Given the description of an element on the screen output the (x, y) to click on. 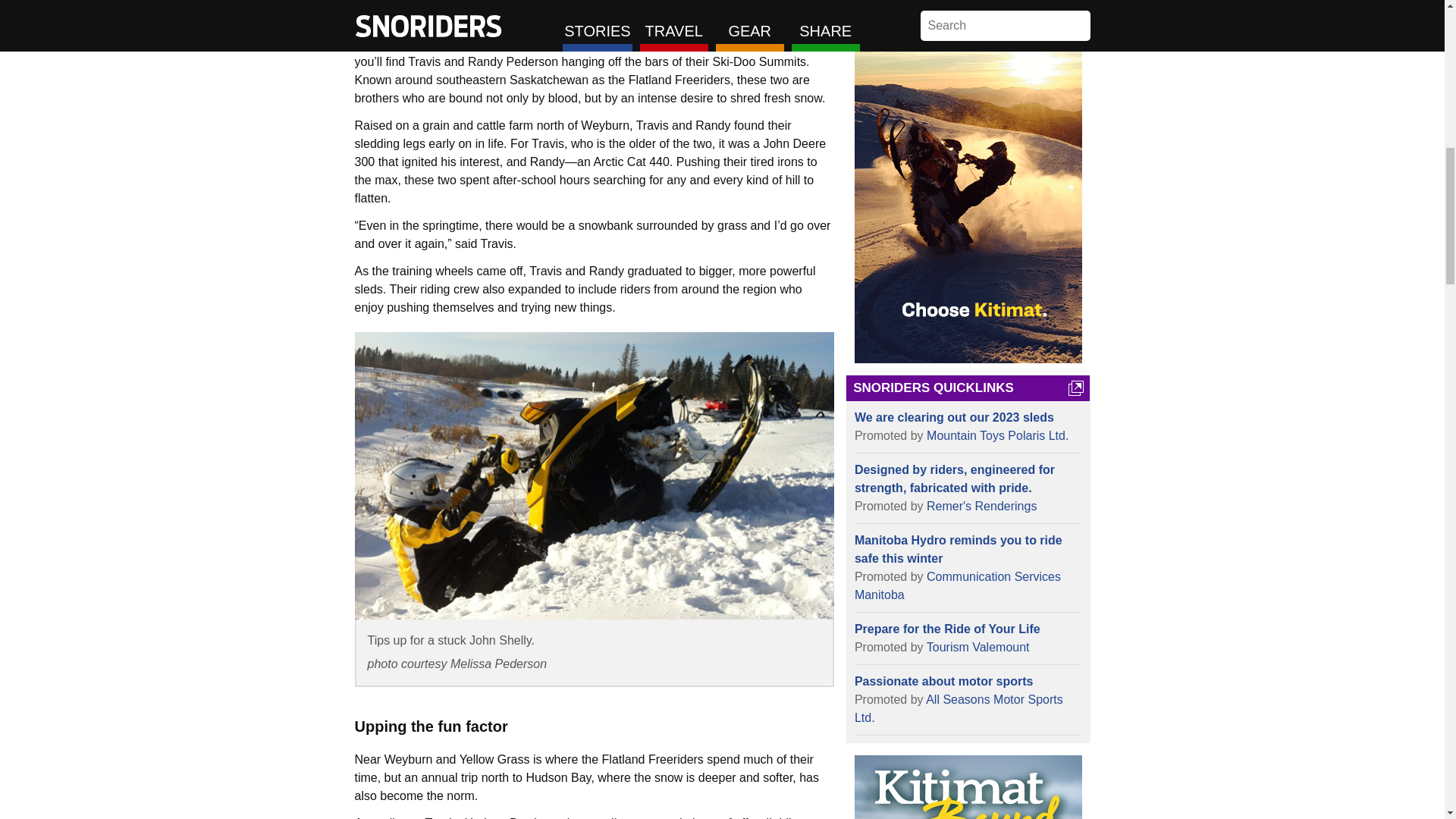
Mountain Toys Polaris Ltd. (997, 435)
We are clearing out our 2023 sleds (967, 417)
